Given the description of an element on the screen output the (x, y) to click on. 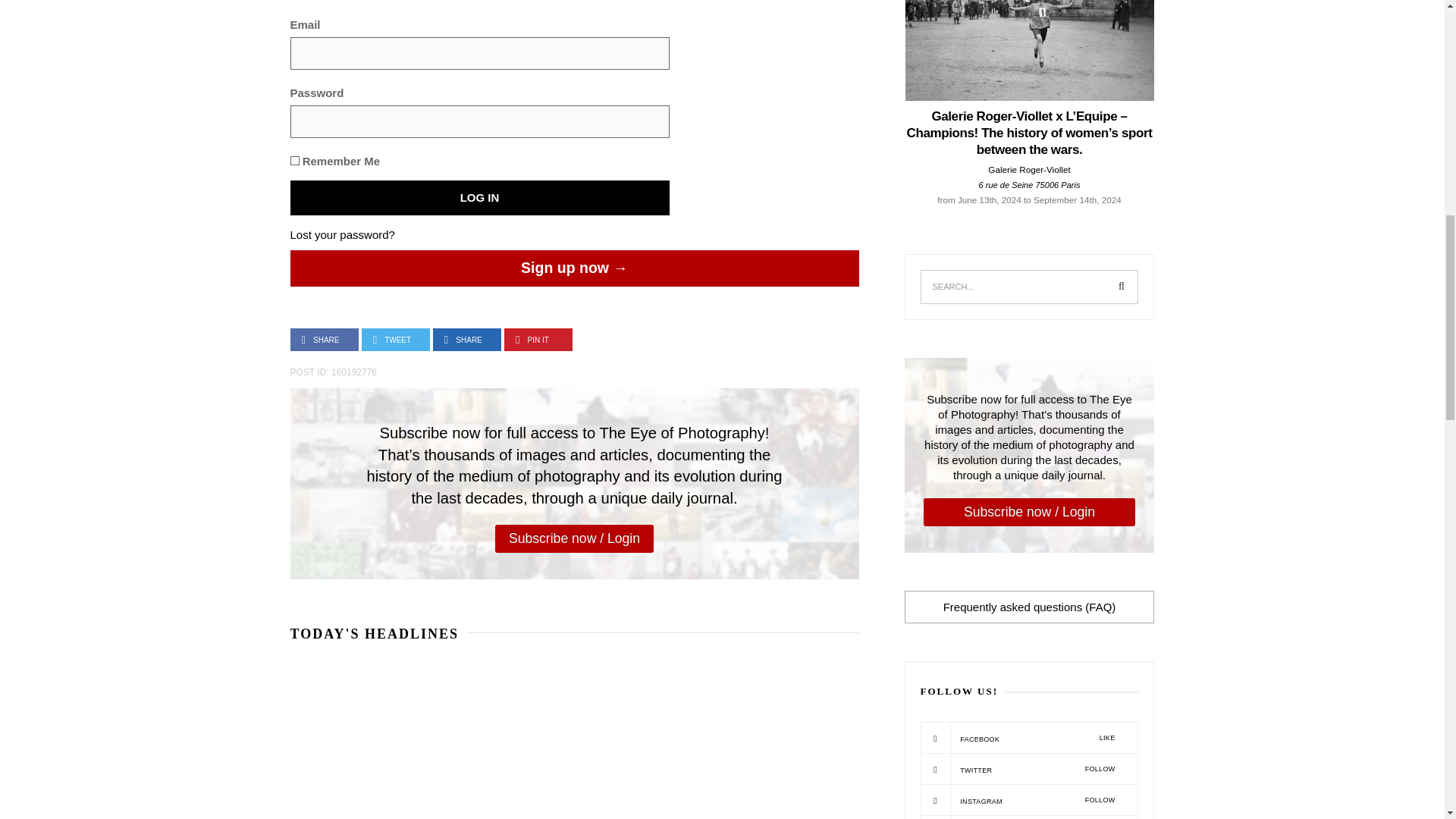
forever (293, 160)
Log In (478, 197)
